Given the description of an element on the screen output the (x, y) to click on. 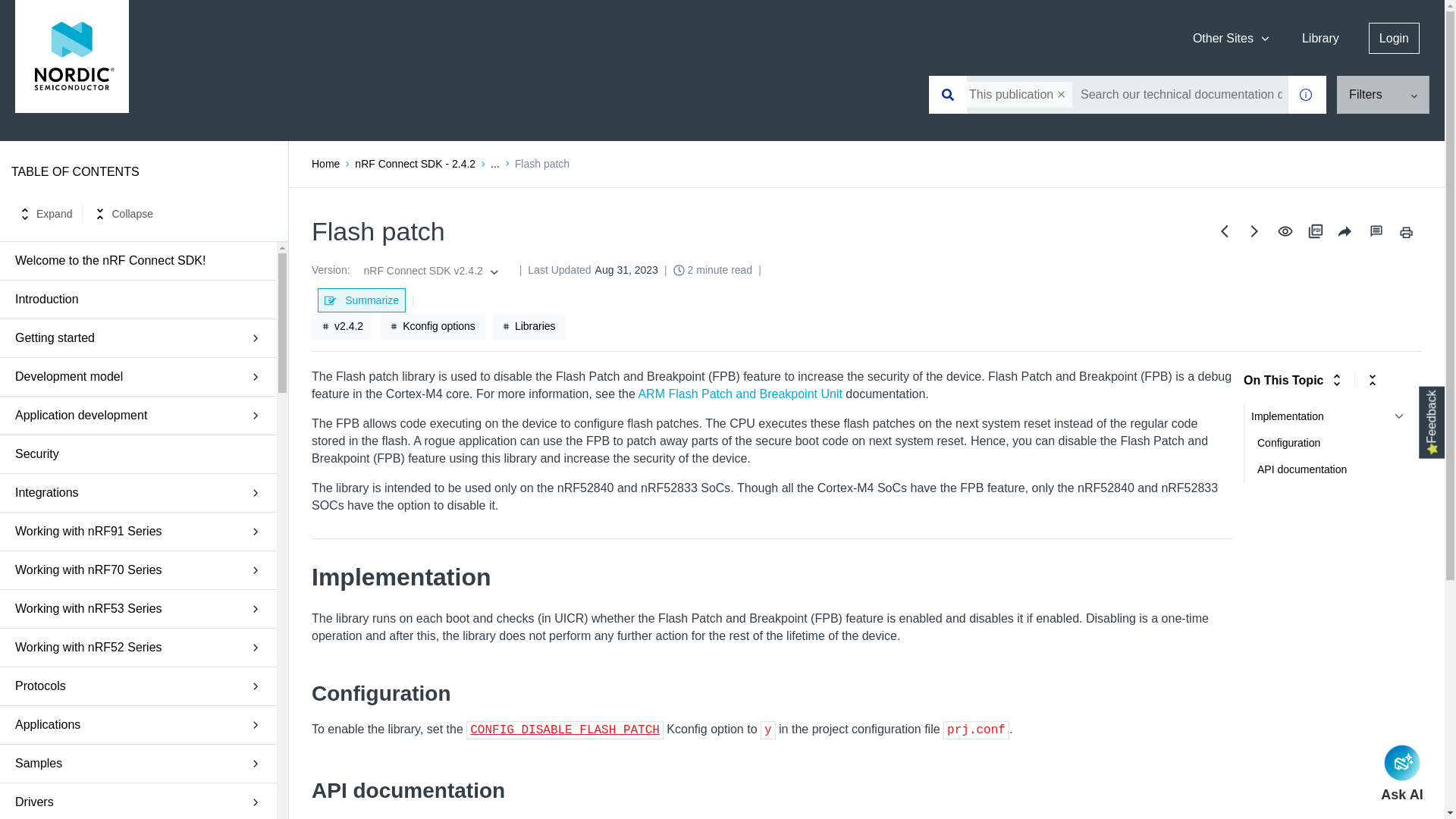
Other Sites (1231, 37)
Filters (1382, 94)
Login (1393, 38)
Library (1320, 37)
nRF Connect SDK v2.4.2 (428, 270)
